Given the description of an element on the screen output the (x, y) to click on. 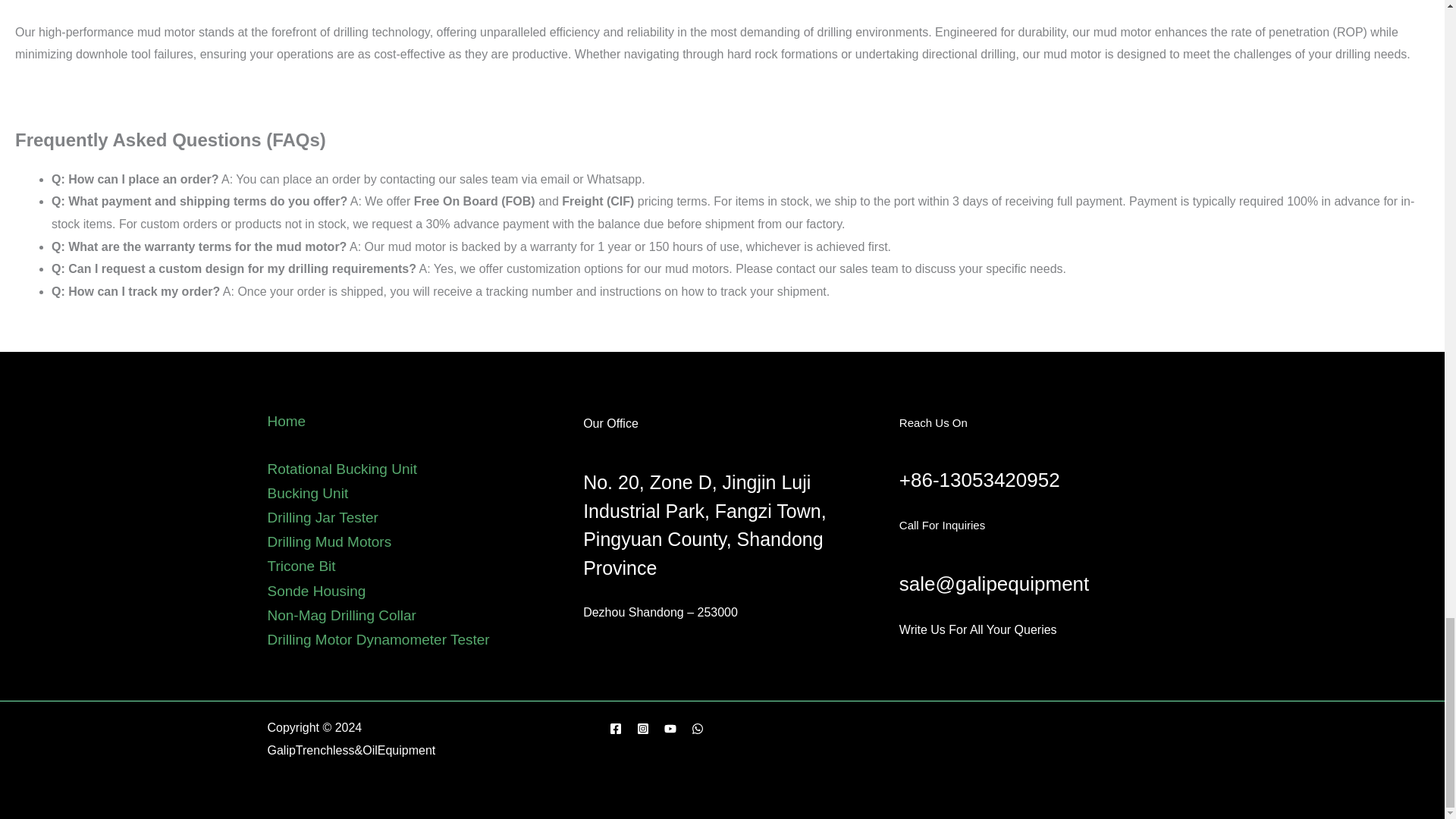
Drilling Jar Tester (321, 517)
Tricone Bit (300, 565)
Drilling Mud Motors (328, 541)
Rotational Bucking Unit (341, 468)
Sonde Housing (315, 590)
Bucking Unit (306, 493)
Home (285, 421)
